Given the description of an element on the screen output the (x, y) to click on. 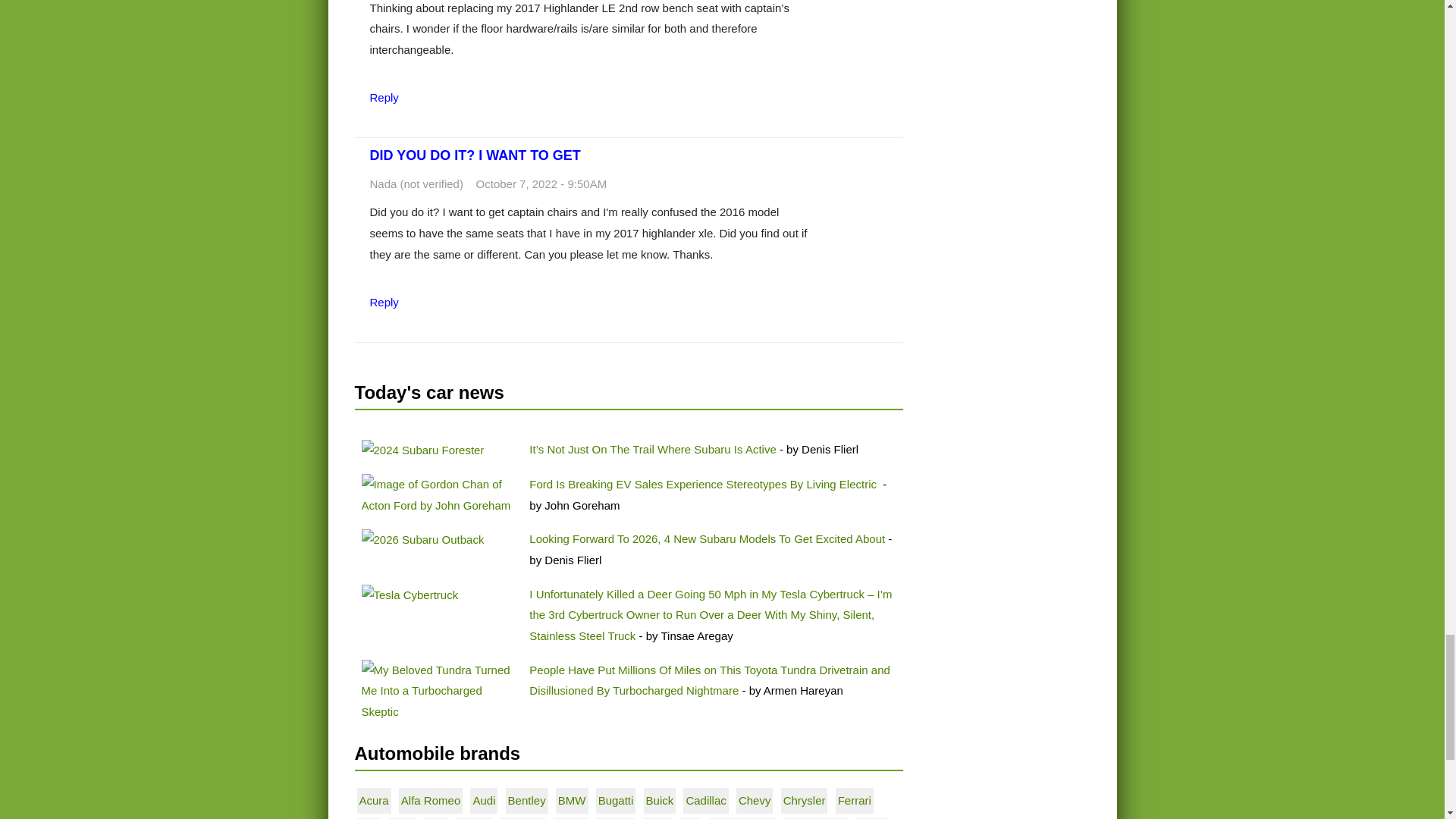
My Beloved Tundra Turned Me Into a Turbocharged Skeptic (438, 691)
2026 Subaru Outback wheel and side view (422, 539)
Ford dealer associate image (438, 494)
2024 Subaru Forester on the beach (422, 450)
